Given the description of an element on the screen output the (x, y) to click on. 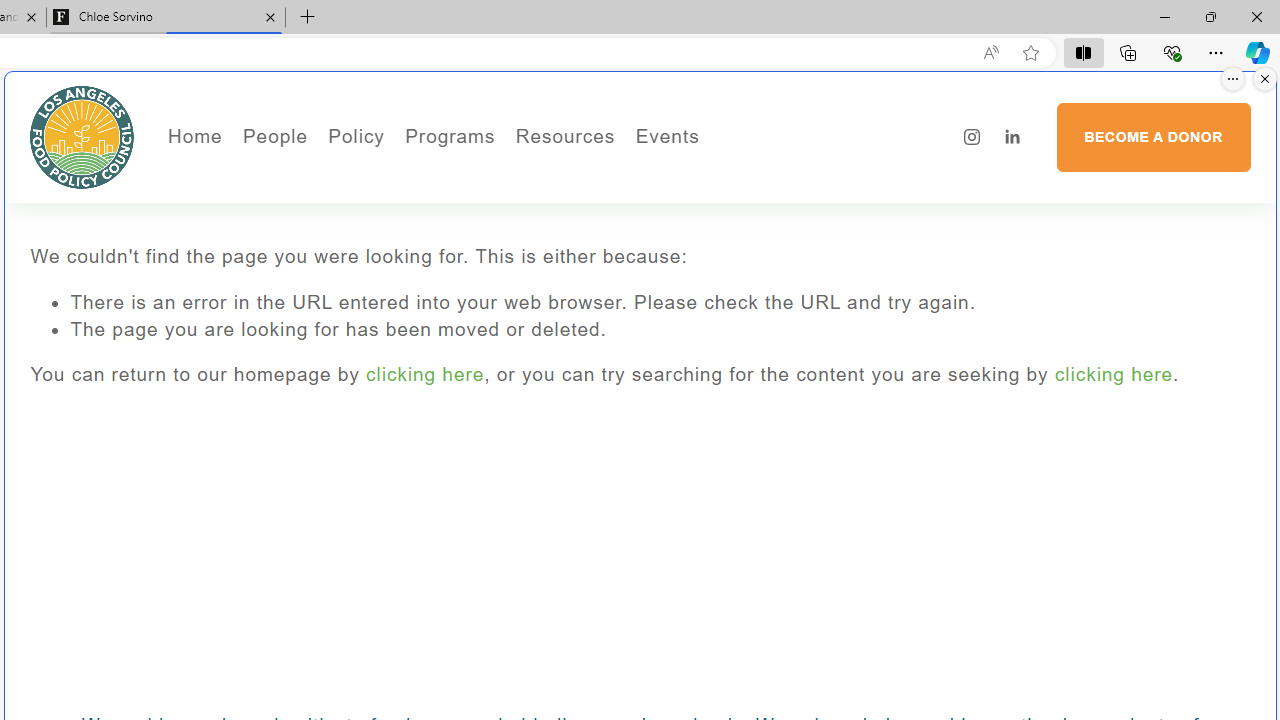
Close tab (270, 16)
Farm Fresh LA (504, 205)
LinkedIn (1012, 137)
Los Angeles Food Policy Council (81, 136)
Minimize (1164, 16)
clicking here (1113, 374)
Chloe Sorvino (166, 17)
Resources (564, 136)
Browser essentials (1171, 52)
Copilot (Ctrl+Shift+.) (1258, 52)
Policy (356, 136)
Food Leaders Lab (468, 232)
Healthy Markets LA (504, 176)
New Tab (308, 17)
BECOME A DONOR (1153, 137)
